Given the description of an element on the screen output the (x, y) to click on. 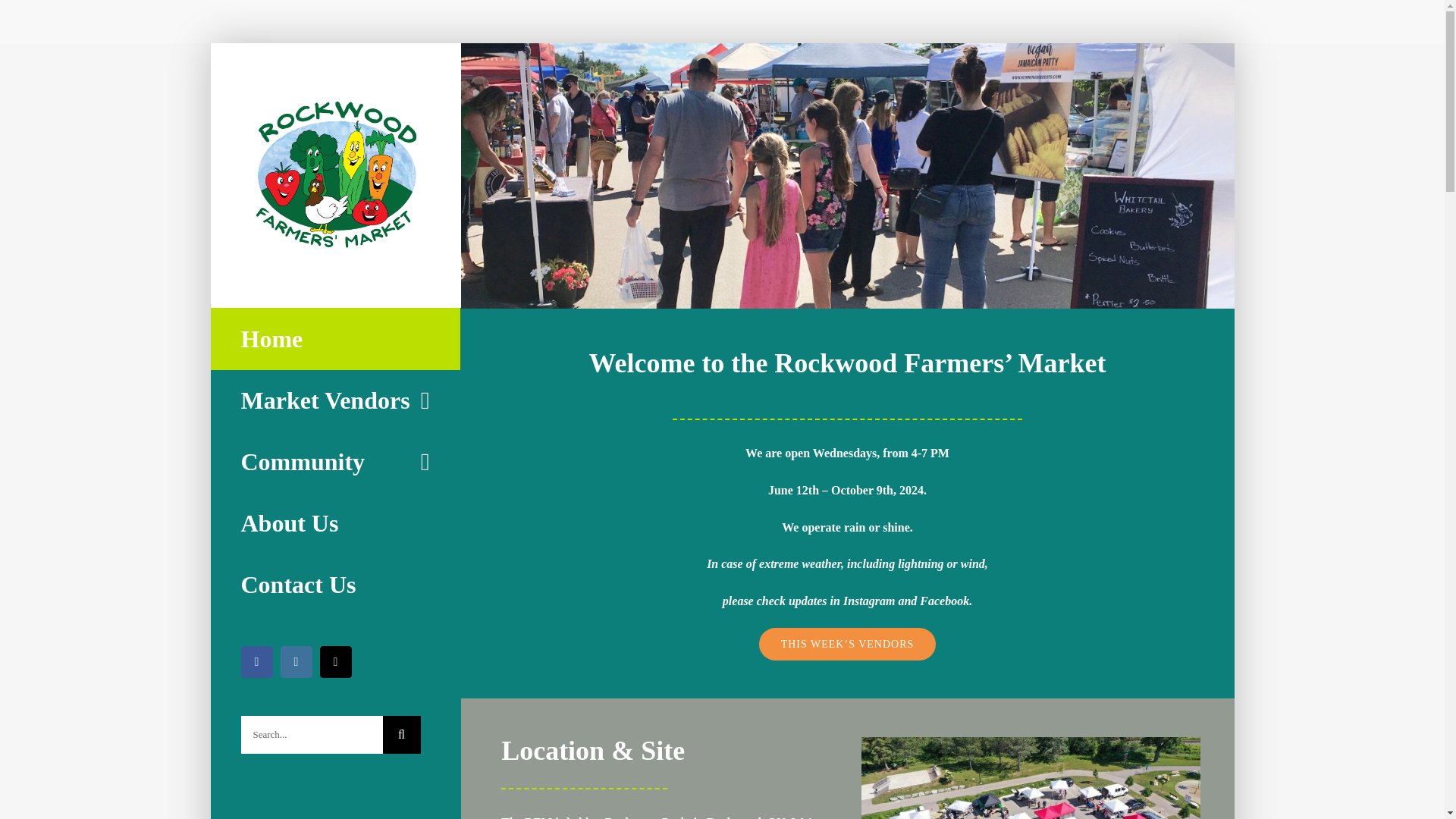
Facebook (257, 662)
Facebook (257, 662)
Email (336, 662)
Contact Us (335, 584)
Instagram (297, 662)
Market Vendors (335, 400)
Instagram (297, 662)
Market-aerial (1030, 778)
Home (335, 338)
Email (336, 662)
